Given the description of an element on the screen output the (x, y) to click on. 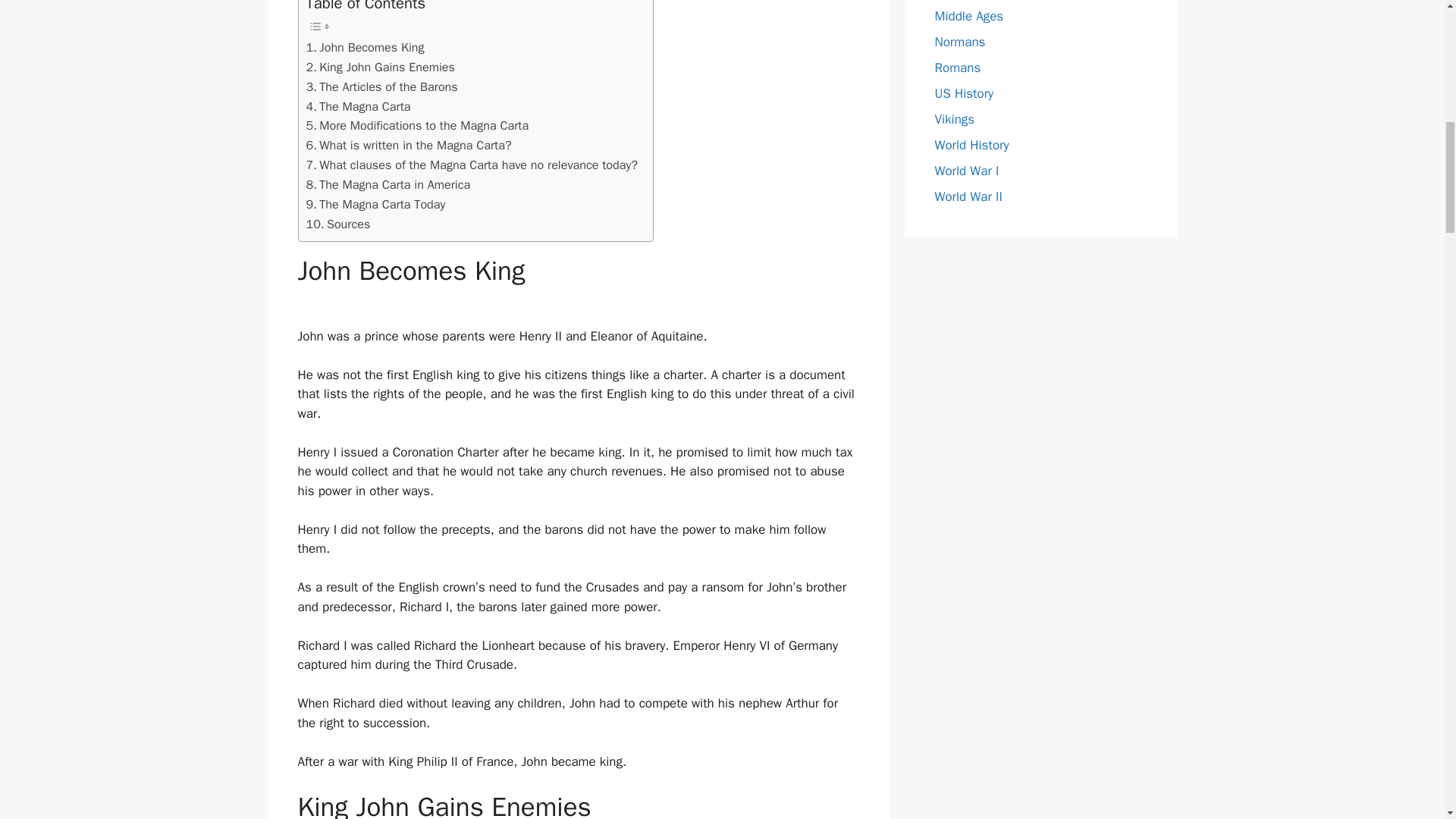
The Magna Carta Today (375, 204)
More Modifications to the Magna Carta (417, 125)
What clauses of the Magna Carta have no relevance today? (471, 165)
What clauses of the Magna Carta have no relevance today? (471, 165)
John Becomes King (365, 47)
The Magna Carta (357, 107)
Sources (338, 224)
What is written in the Magna Carta? (408, 145)
The Articles of the Barons (381, 86)
The Magna Carta Today (375, 204)
The Magna Carta in America (387, 184)
More Modifications to the Magna Carta (417, 125)
John Becomes King (365, 47)
The Articles of the Barons (381, 86)
King John Gains Enemies (379, 66)
